Given the description of an element on the screen output the (x, y) to click on. 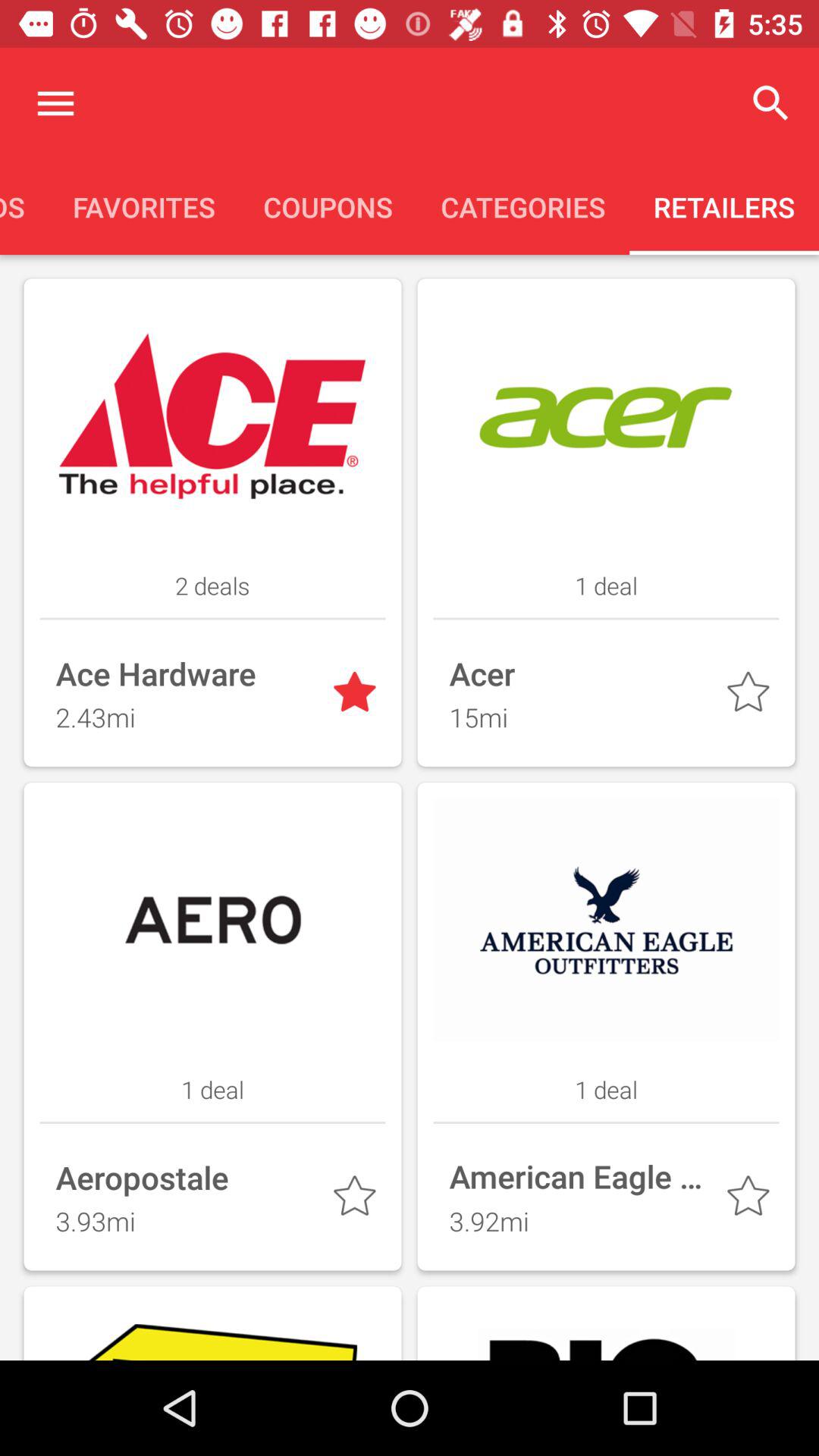
favorite this (357, 1199)
